Given the description of an element on the screen output the (x, y) to click on. 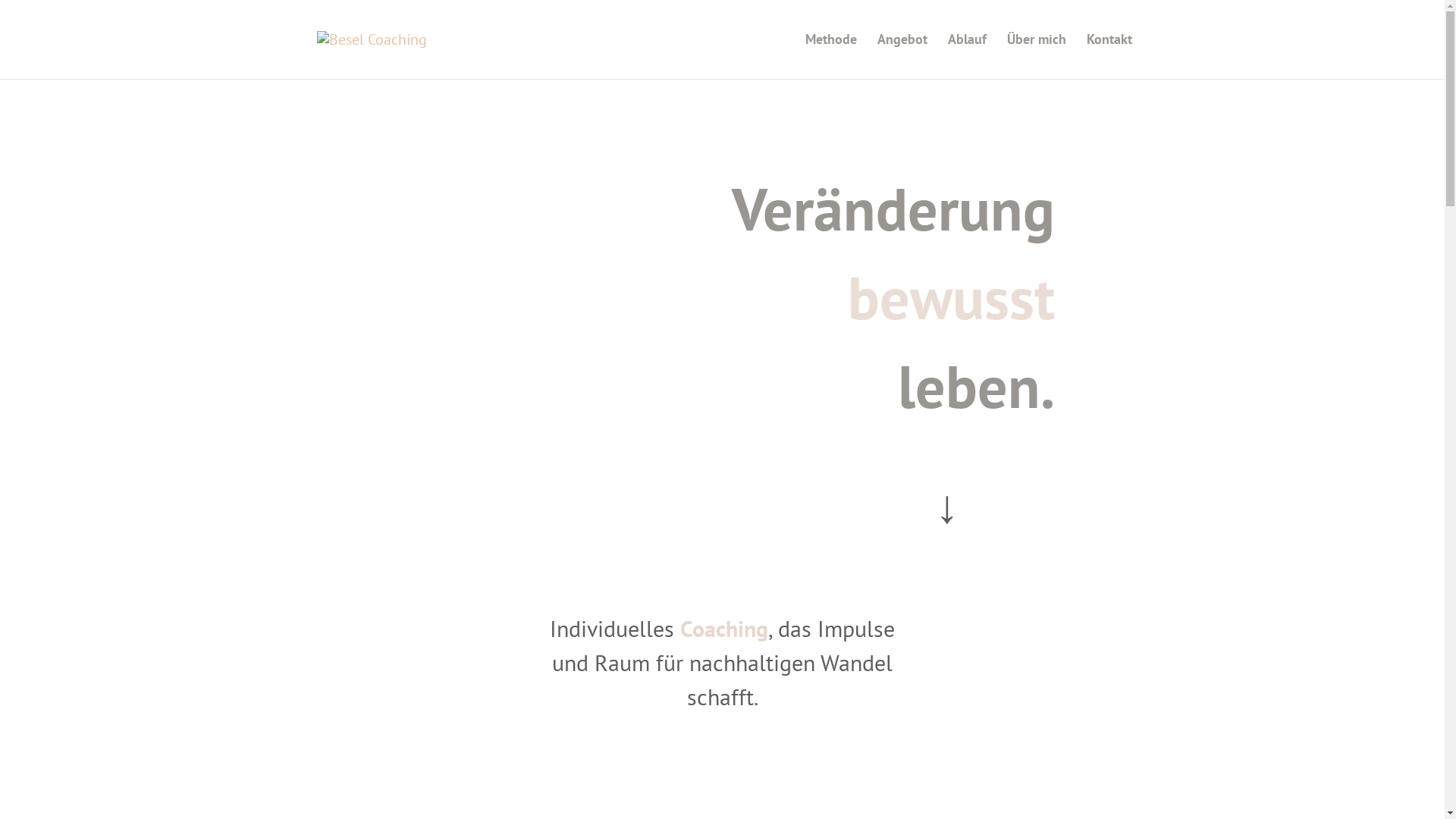
Methode Element type: text (830, 56)
Angebot Element type: text (901, 56)
Kontakt Element type: text (1108, 56)
Ablauf Element type: text (966, 56)
